Given the description of an element on the screen output the (x, y) to click on. 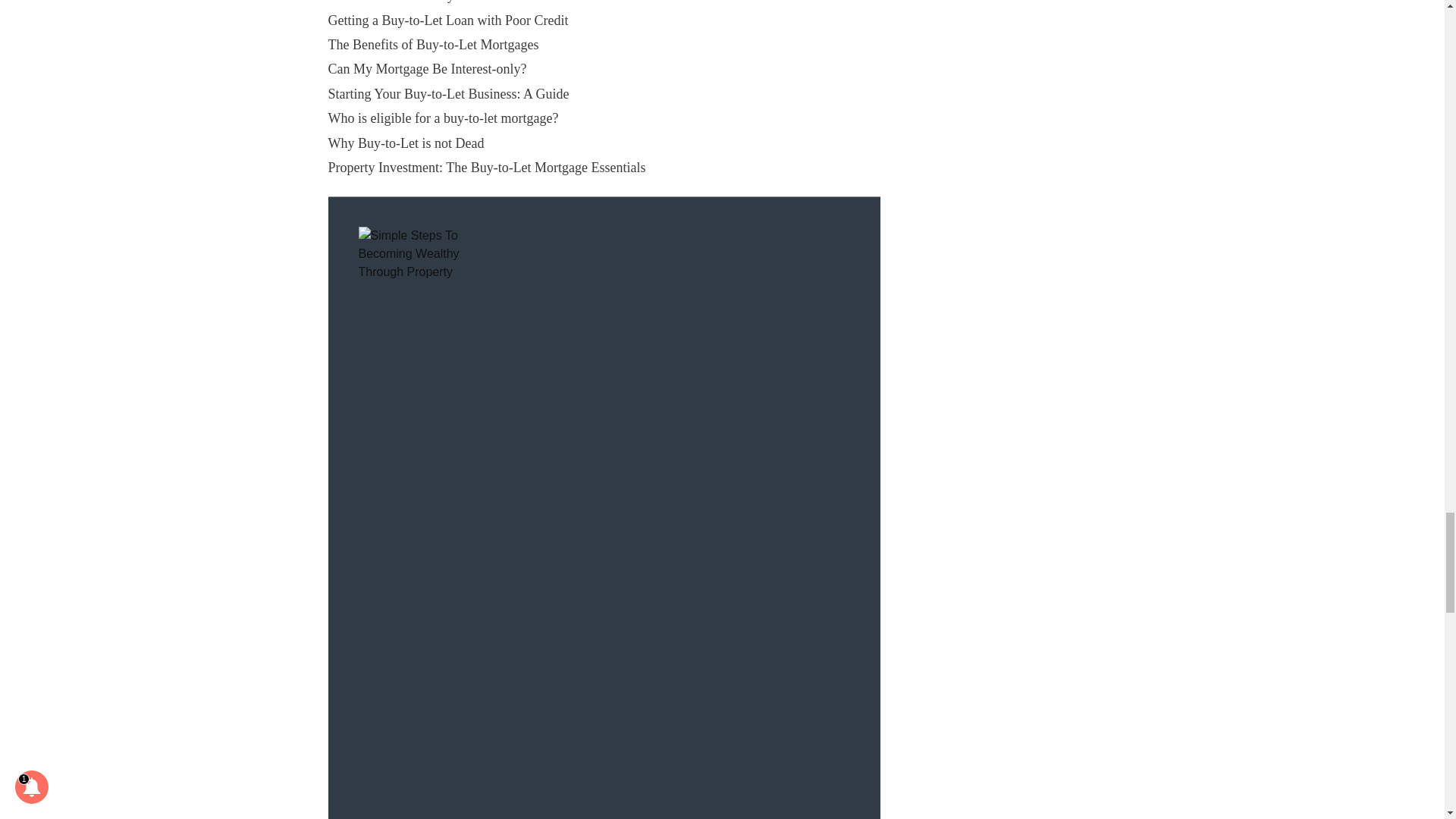
Can My Mortgage Be Interest-only? (426, 68)
Getting a Buy-to-Let Loan with Poor Credit (447, 20)
Who is eligible for a buy-to-let mortgage? (442, 118)
Getting a Buy-to-Let Loan with Poor Credit (447, 20)
Why Buy-to-Let is not Dead (405, 142)
The Benefits of Buy-to-Let Mortgages (432, 44)
Who is eligible for a buy-to-let mortgage? (442, 118)
Starting Your Buy-to-Let Business: A Guide (448, 93)
Property Investment: The Buy-to-Let Mortgage Essentials (486, 167)
Starting Your Buy-to-Let Business: A Guide (448, 93)
Can My Mortgage Be Interest-only? (426, 68)
The Benefits of Buy-to-Let Mortgages (432, 44)
